Given the description of an element on the screen output the (x, y) to click on. 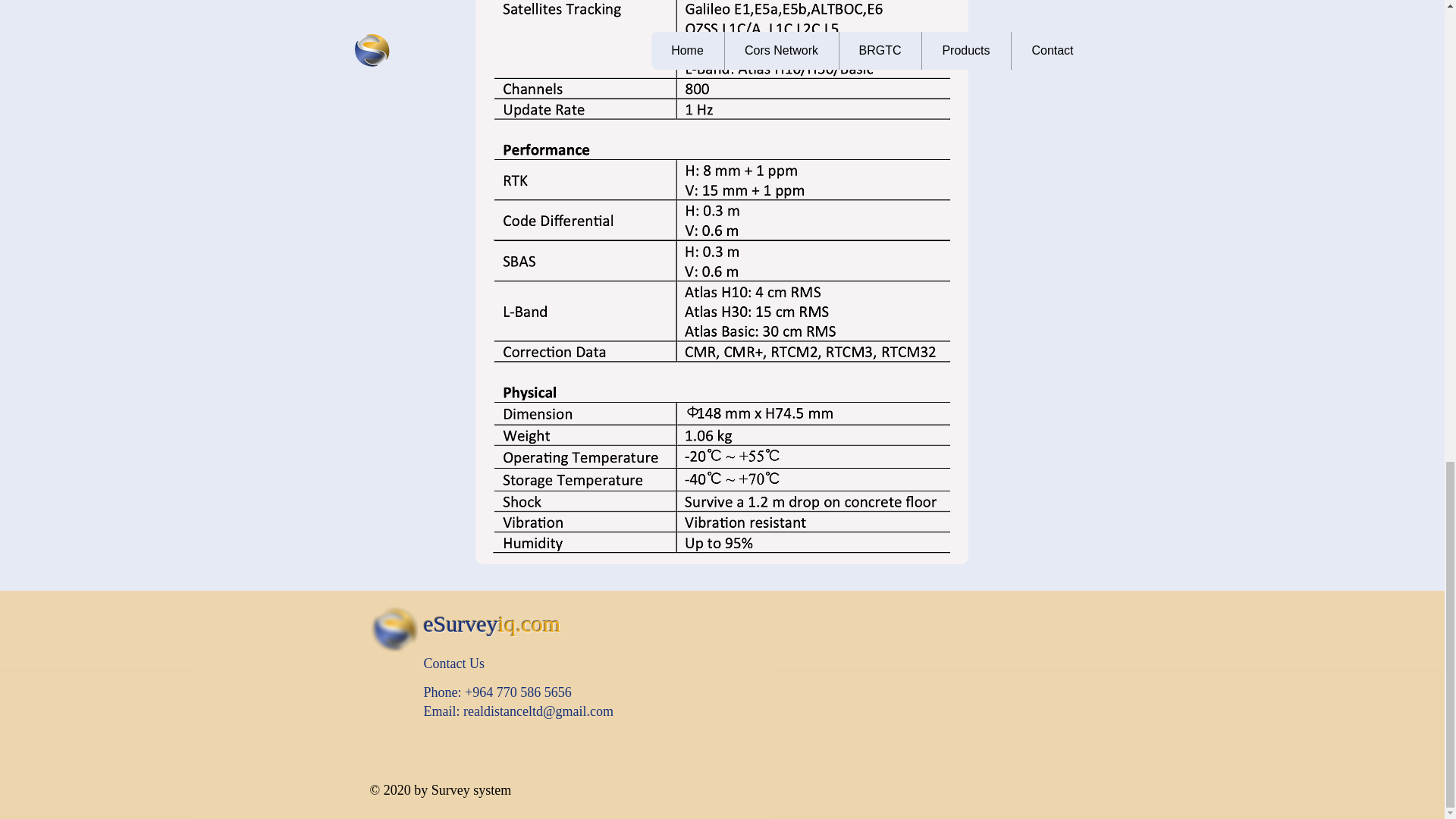
Contact Us (453, 663)
eSurveyiq.com (491, 623)
